Given the description of an element on the screen output the (x, y) to click on. 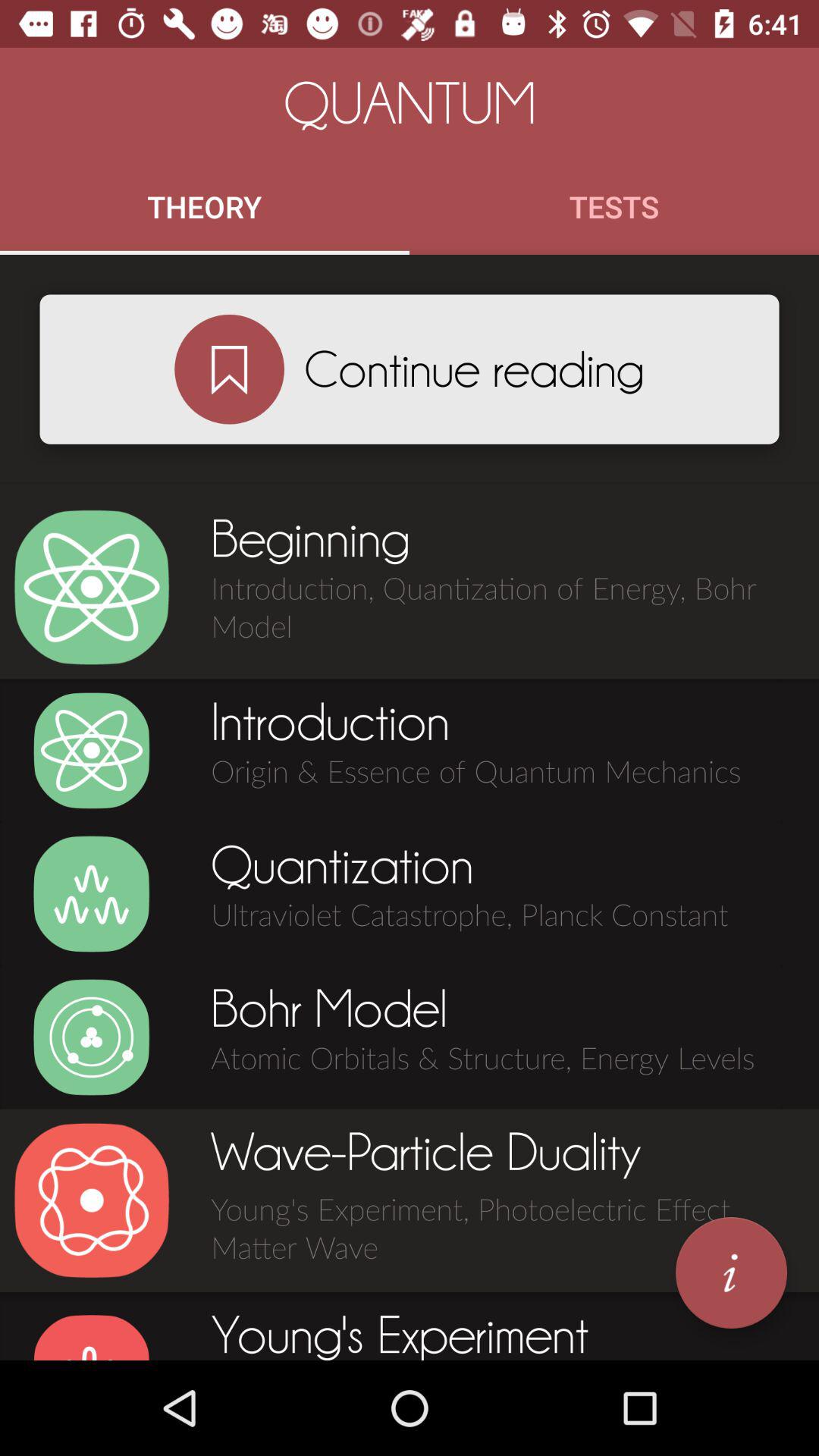
launch the item next to the young's experiment item (731, 1272)
